Given the description of an element on the screen output the (x, y) to click on. 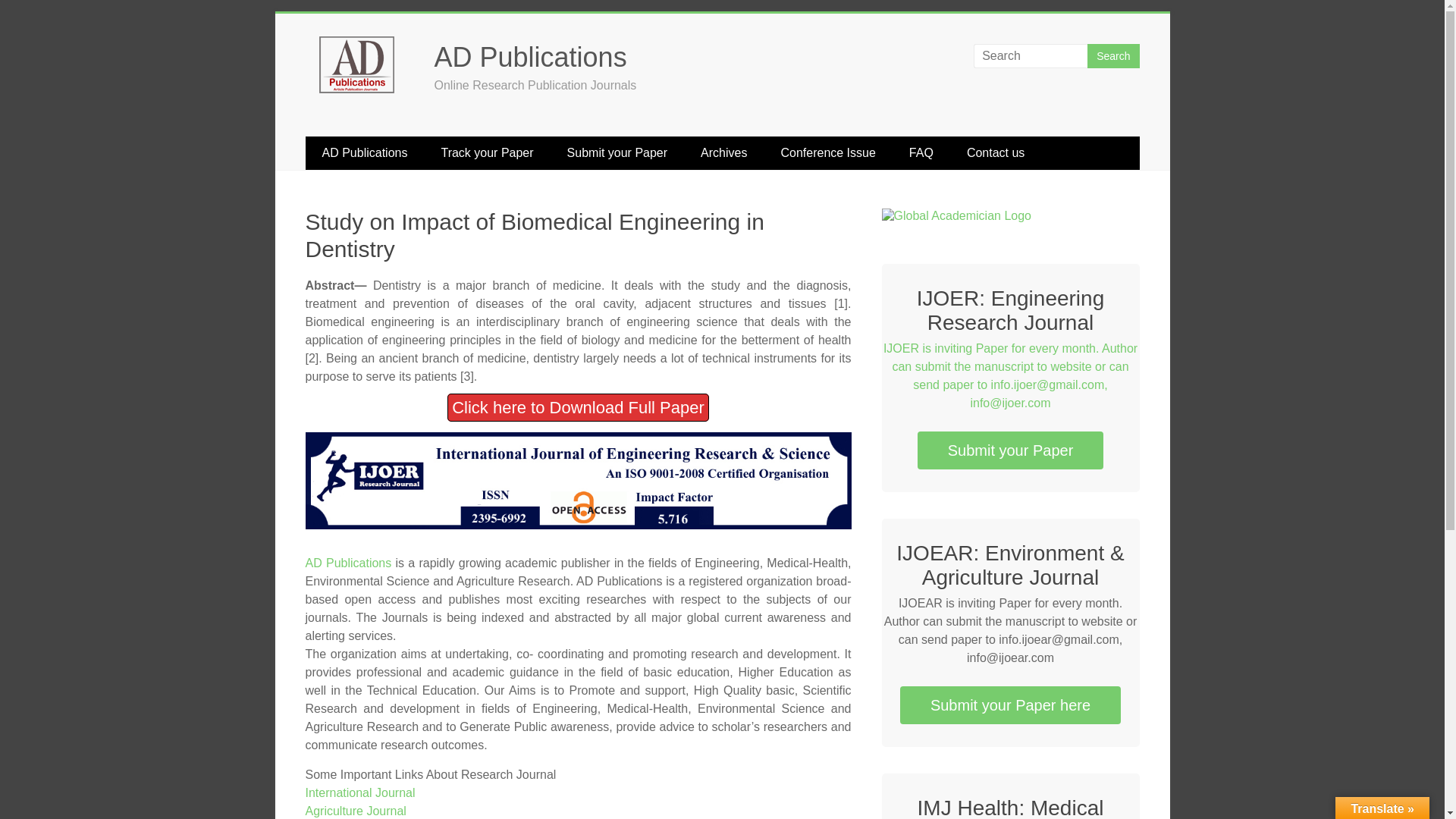
Submit your Paper (617, 152)
AD Publications (529, 56)
Archives (723, 152)
Submit your Paper (1010, 450)
AD Publications (529, 56)
Submit your Paper here (1010, 704)
Search (1112, 55)
AD Publications (363, 152)
Track your Paper (486, 152)
